Given the description of an element on the screen output the (x, y) to click on. 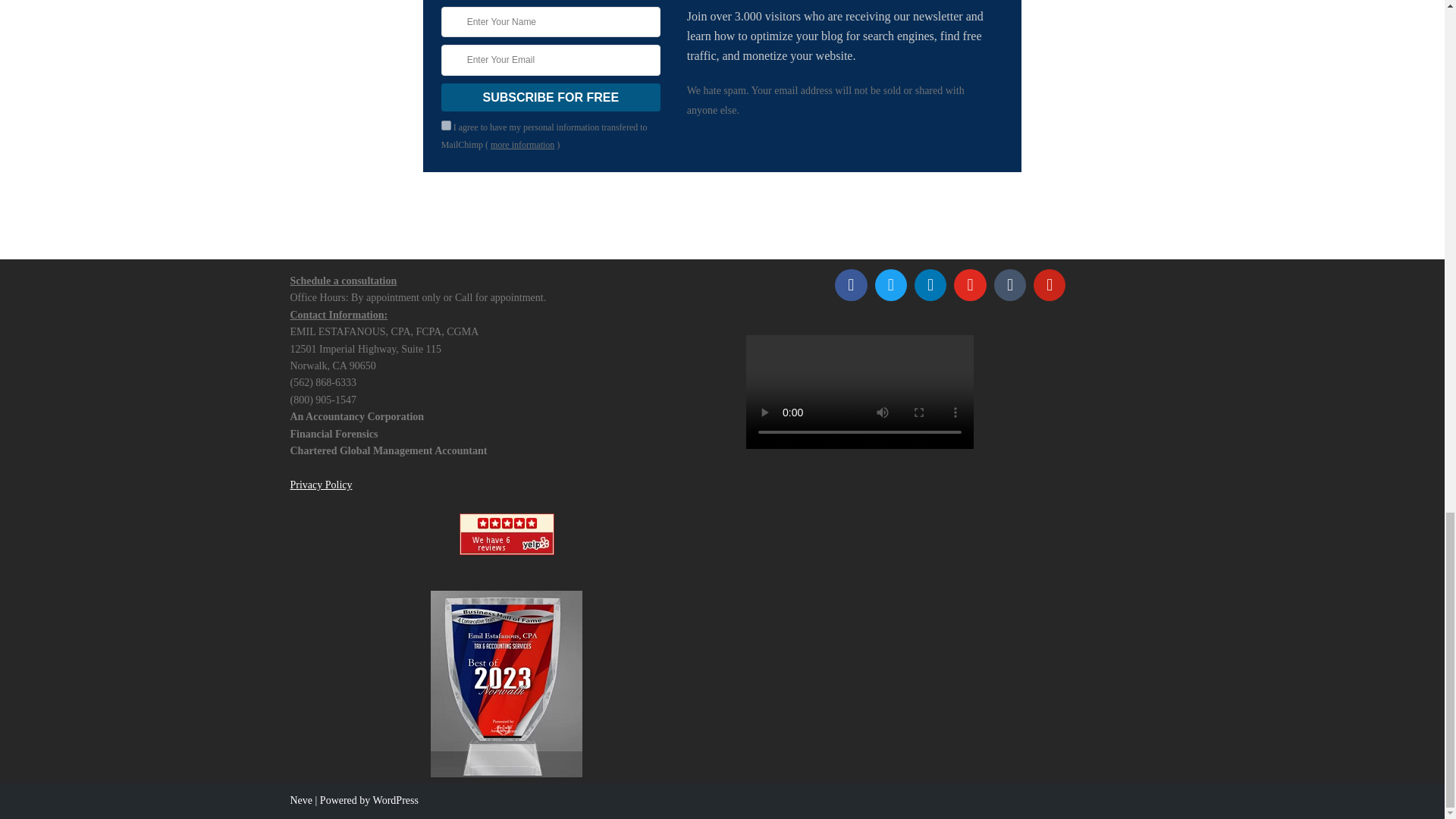
Default Label (1009, 284)
Default Label (930, 284)
Twitter (890, 284)
Facebook (850, 284)
SUBSCRIBE FOR FREE (551, 97)
Instagram (970, 284)
on (446, 125)
Default Label (1048, 284)
